Given the description of an element on the screen output the (x, y) to click on. 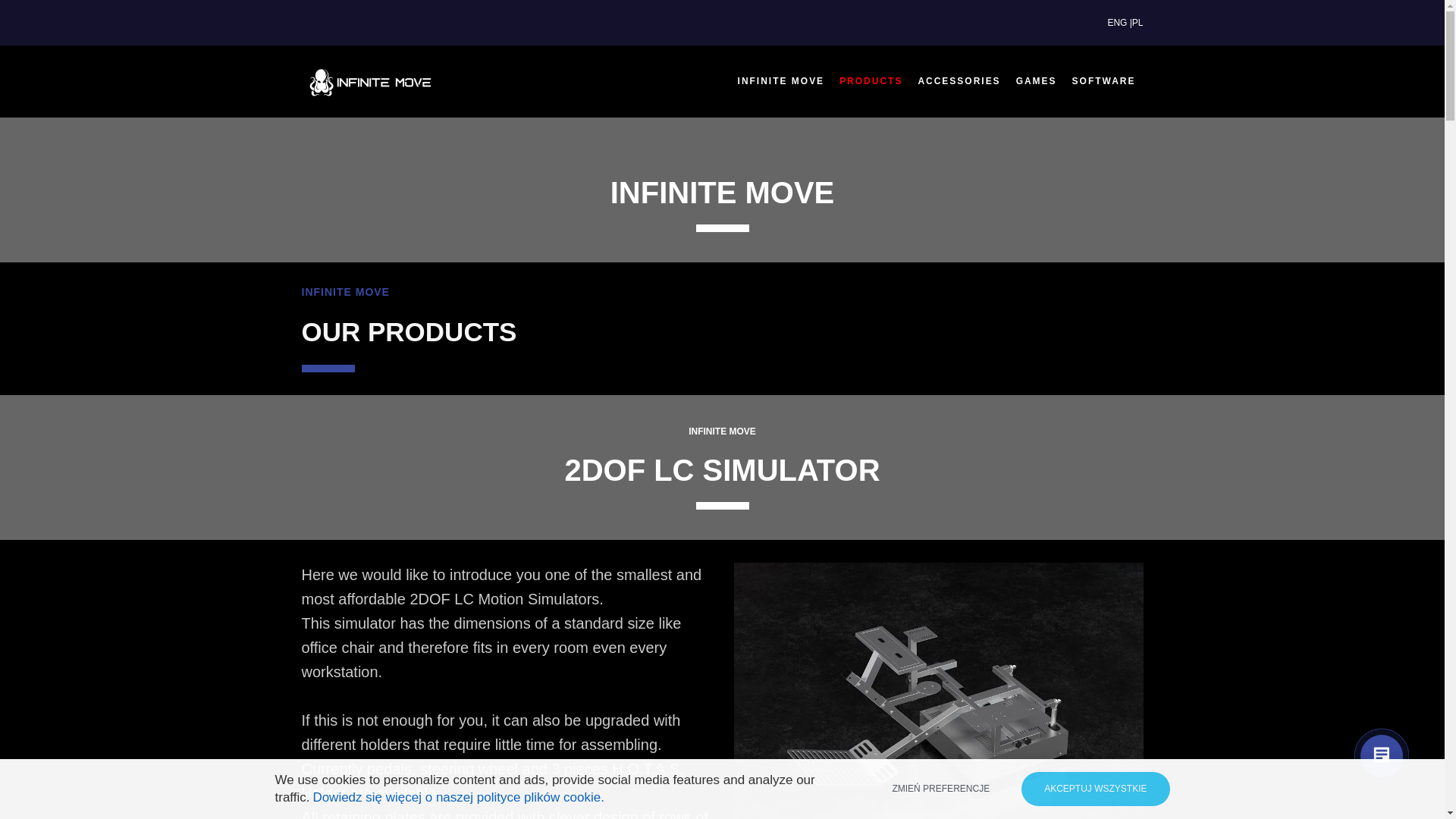
GAMES (1036, 81)
PL (1137, 22)
PRODUCTS (871, 81)
ACCESSORIES (958, 81)
INFINITE MOVE (781, 81)
ENG (1116, 22)
SOFTWARE (1103, 81)
